Given the description of an element on the screen output the (x, y) to click on. 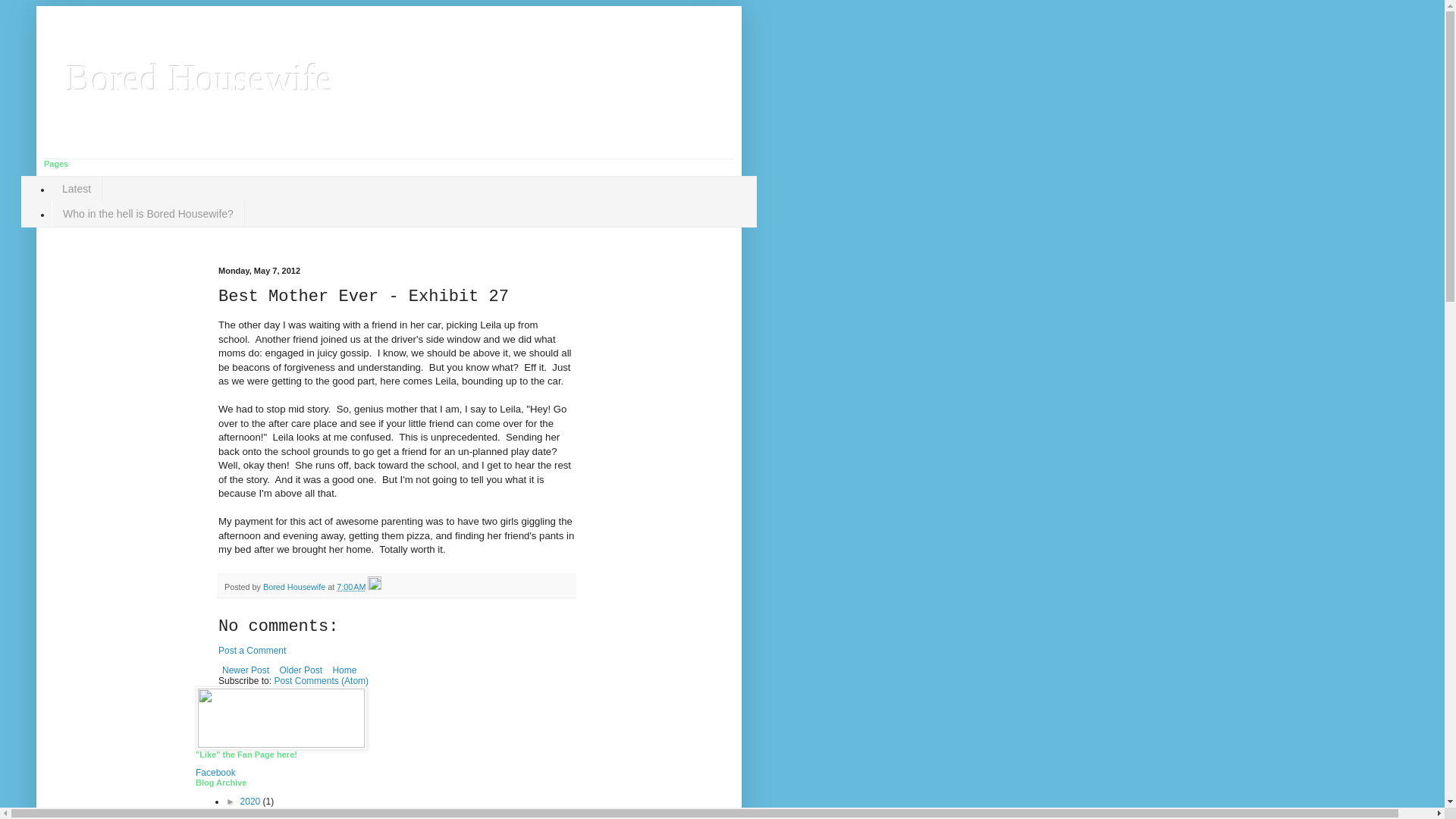
Post a Comment (251, 650)
Who in the hell is Bored Housewife? (147, 213)
Older Post (300, 669)
author profile (295, 586)
Newer Post (245, 669)
Latest (75, 188)
Edit Post (374, 586)
2020 (251, 801)
March (284, 811)
Newer Post (245, 669)
Home (344, 669)
permanent link (350, 586)
Bored Housewife (199, 77)
Facebook (215, 772)
